Given the description of an element on the screen output the (x, y) to click on. 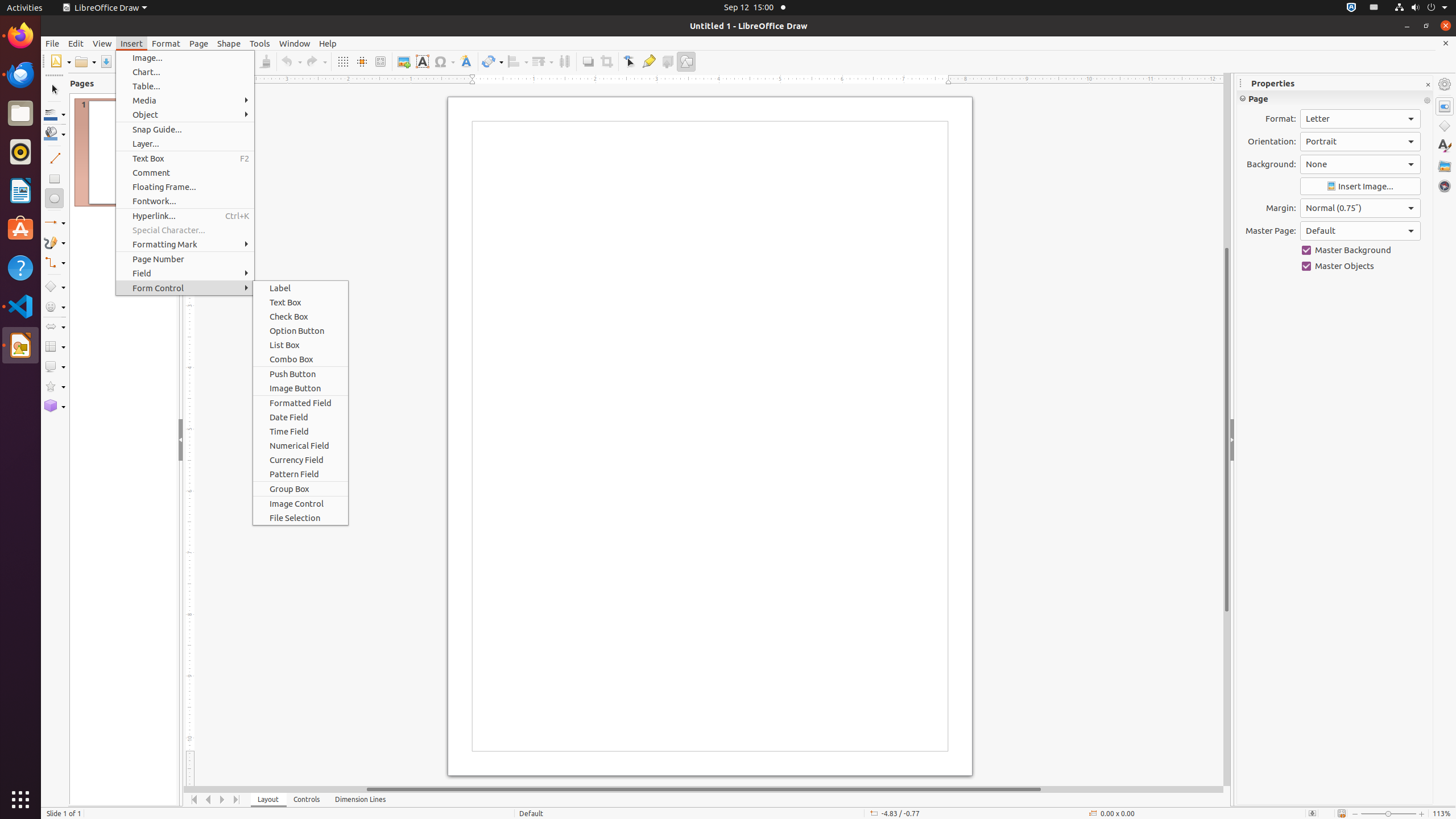
Form Control Element type: menu (185, 287)
Currency Field Element type: check-menu-item (300, 459)
Push Button Element type: check-menu-item (300, 373)
Show Applications Element type: toggle-button (20, 799)
